Given the description of an element on the screen output the (x, y) to click on. 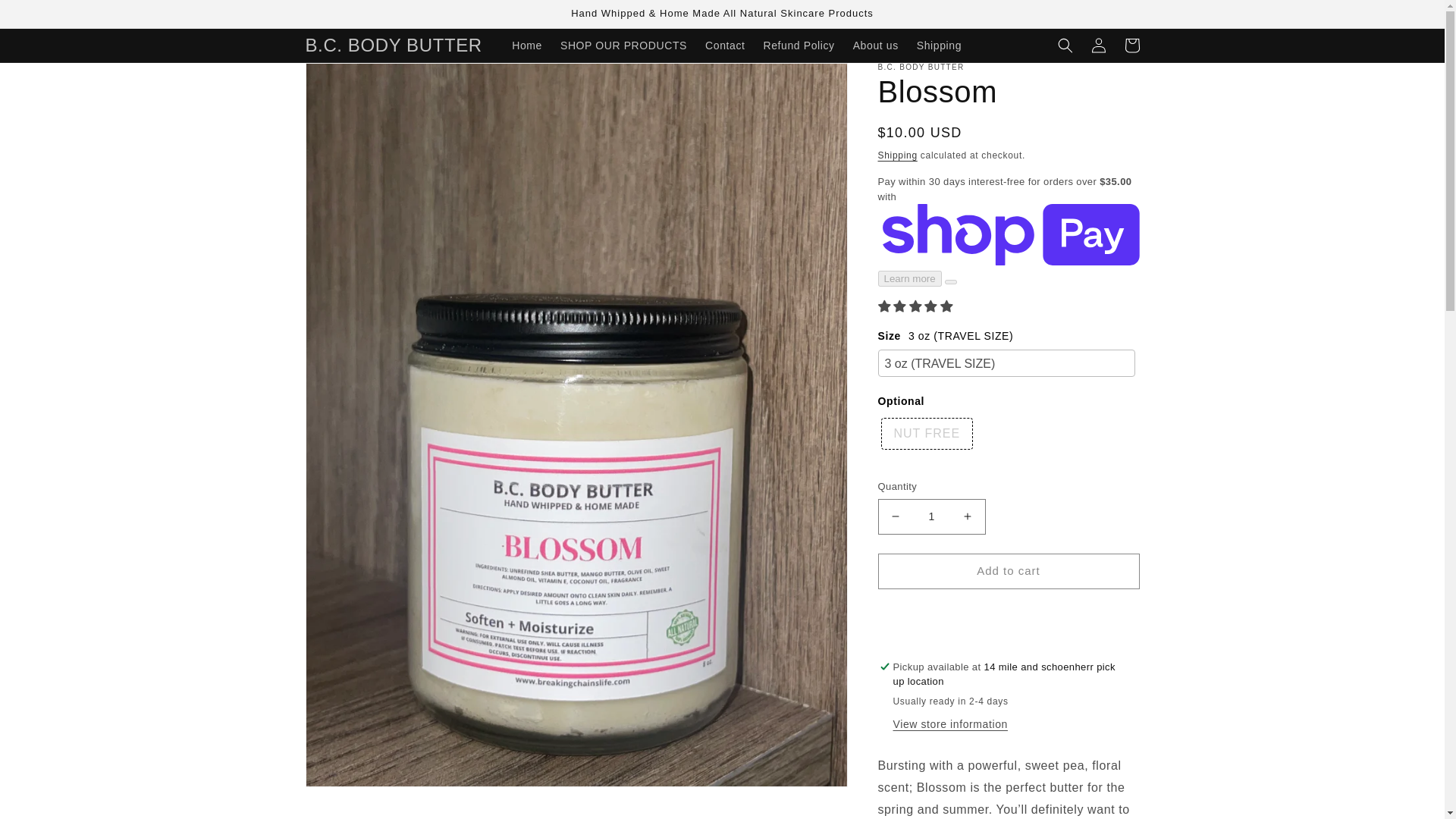
Skip to product information (350, 79)
SHOP OUR PRODUCTS (623, 45)
Log in (1098, 45)
Refund Policy (798, 45)
1 (931, 516)
Add to cart (1008, 570)
B.C. BODY BUTTER (393, 44)
Shipping (939, 45)
Cart (1131, 45)
Home (526, 45)
Increase quantity for Blossom (967, 516)
View store information (950, 725)
Shipping (897, 154)
Contact (724, 45)
About us (875, 45)
